Given the description of an element on the screen output the (x, y) to click on. 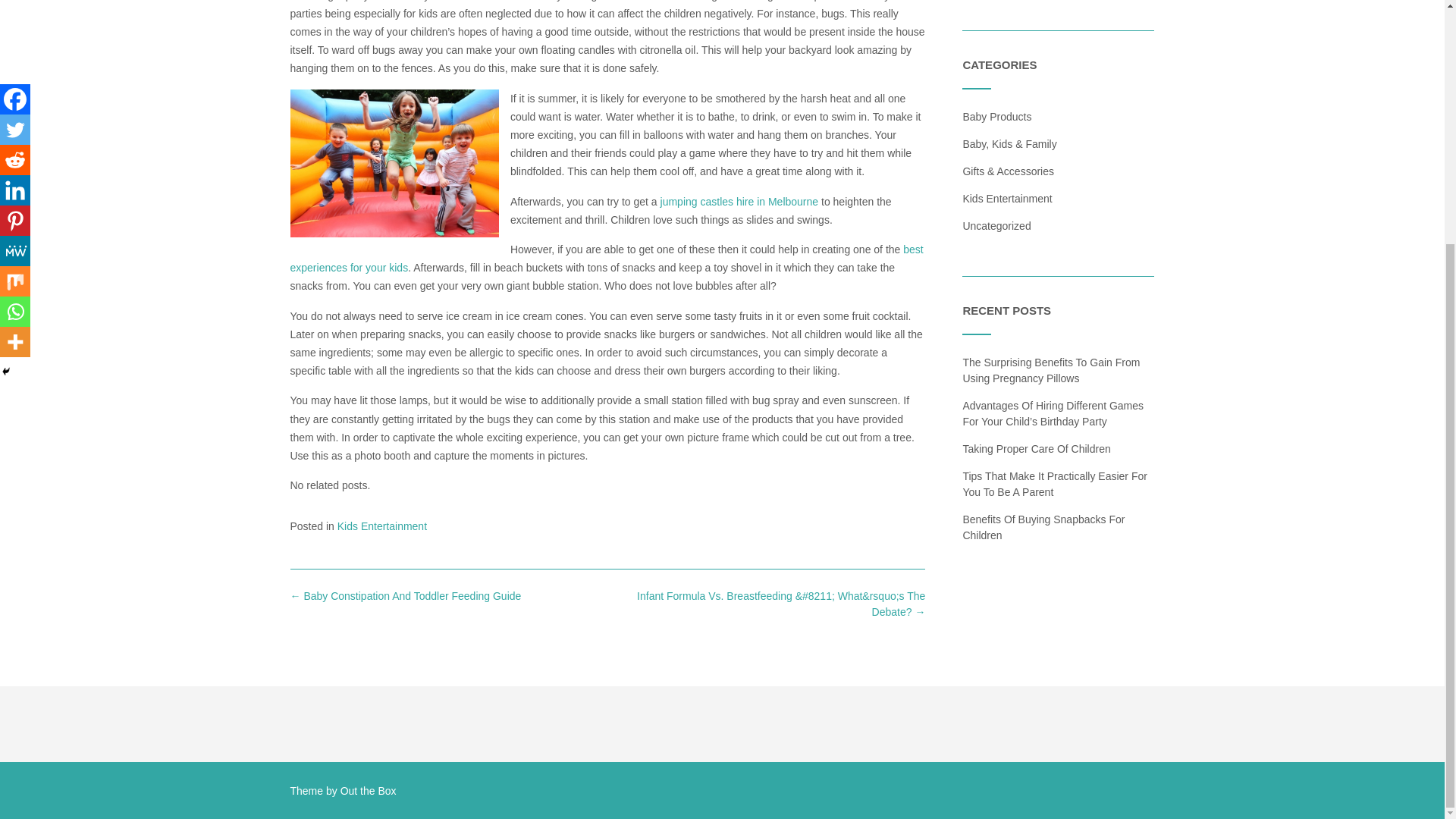
Tips That Make It Practically Easier For You To Be A Parent (1054, 483)
Kids Entertainment (381, 526)
Kids Entertainment (1006, 198)
Uncategorized (996, 225)
Benefits Of Buying Snapbacks For Children (1043, 527)
jumping castles hire in Melbourne (739, 201)
best experiences for your kids (606, 258)
The Surprising Benefits To Gain From Using Pregnancy Pillows (1051, 370)
Taking Proper Care Of Children (1035, 449)
Baby Products (996, 116)
